Given the description of an element on the screen output the (x, y) to click on. 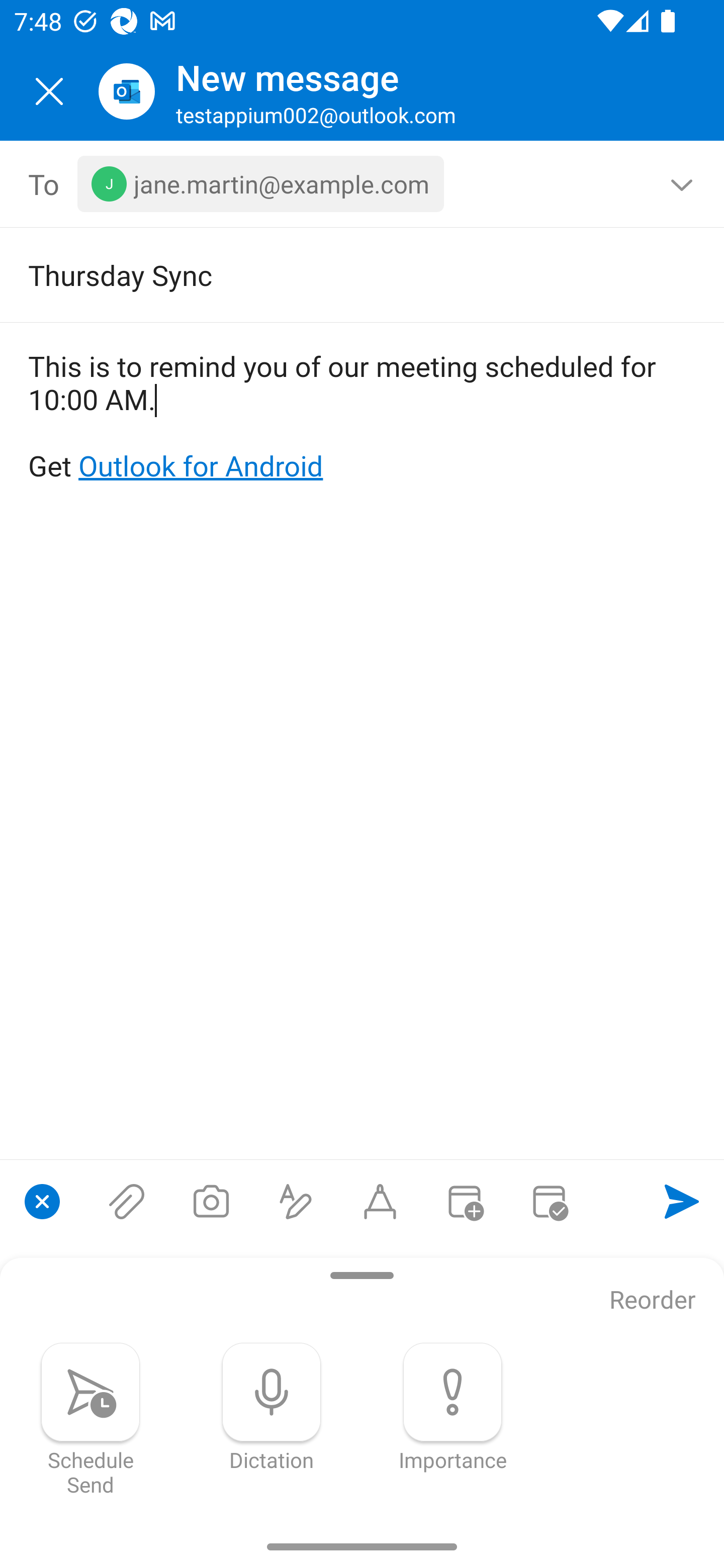
Close (49, 91)
To, 1 recipient <jane.martin@example.com> (362, 184)
Thursday Sync (333, 274)
Close compose options (42, 1200)
Attach files (126, 1200)
Take a photo (210, 1200)
Show formatting options (295, 1200)
Start Ink compose (380, 1200)
Convert to event (464, 1200)
Send availability (548, 1200)
Send (681, 1200)
Reorder (652, 1300)
Schedule Send (90, 1419)
Dictation (271, 1406)
Importance (452, 1406)
